Given the description of an element on the screen output the (x, y) to click on. 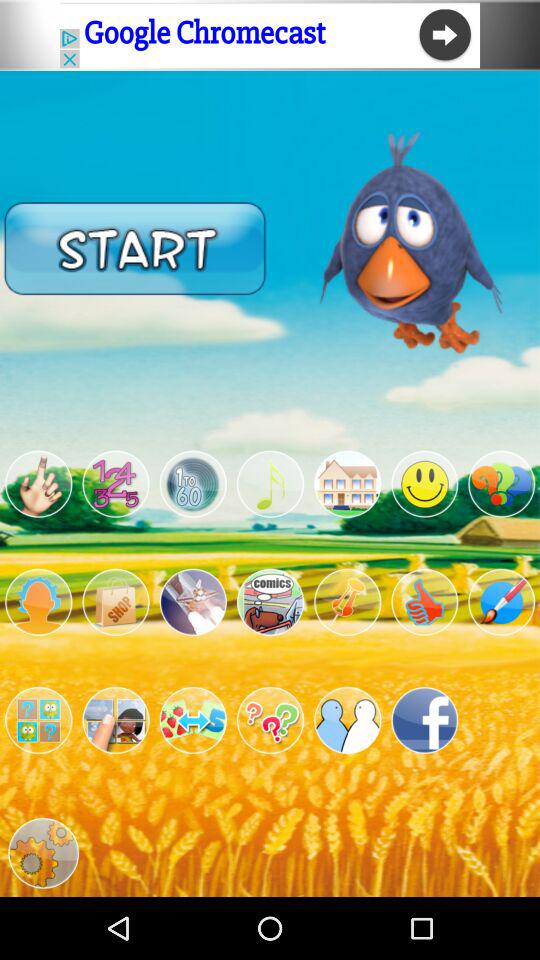
advertisement (347, 484)
